Given the description of an element on the screen output the (x, y) to click on. 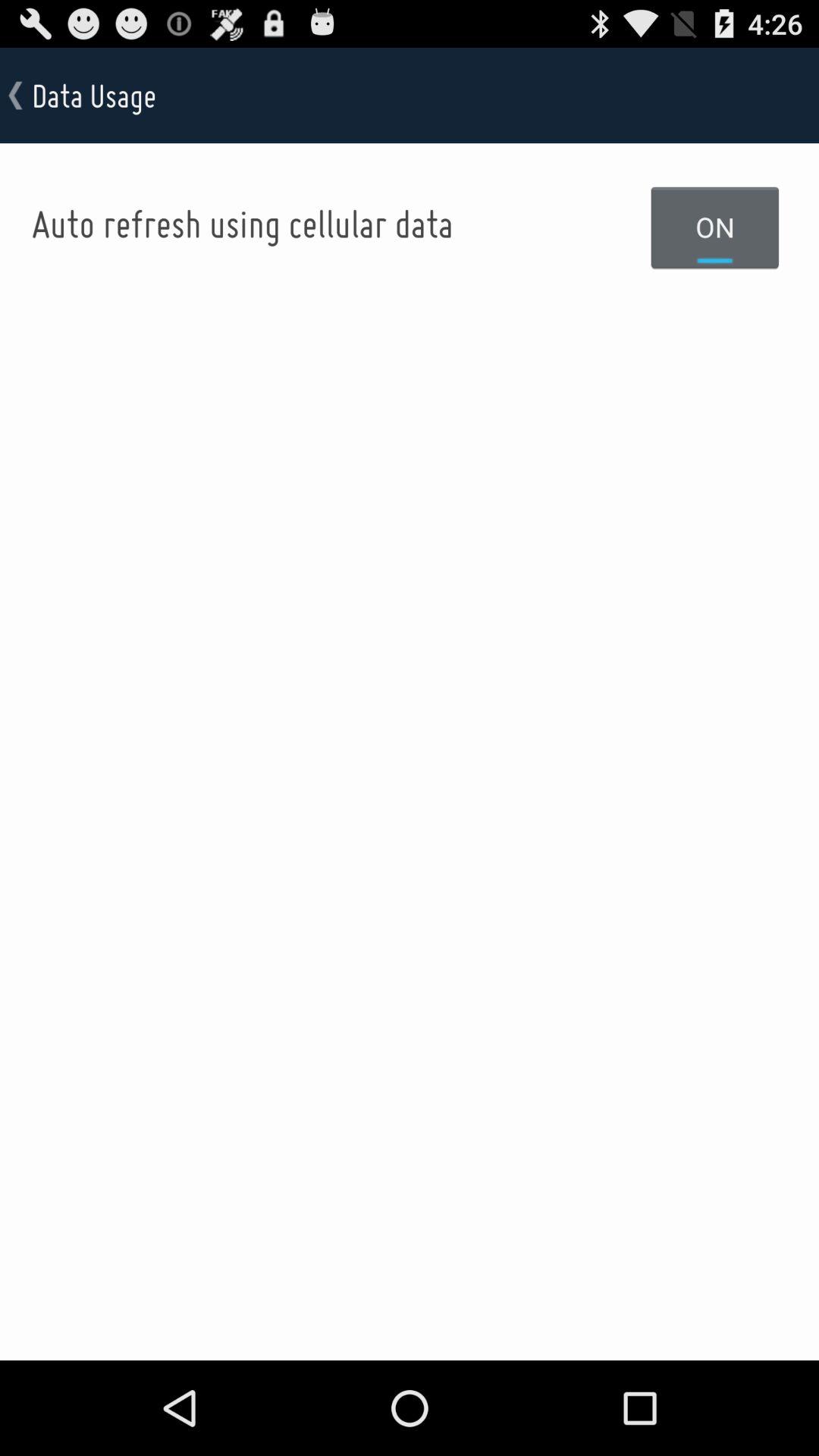
turn on the icon to the right of auto refresh using icon (714, 226)
